Given the description of an element on the screen output the (x, y) to click on. 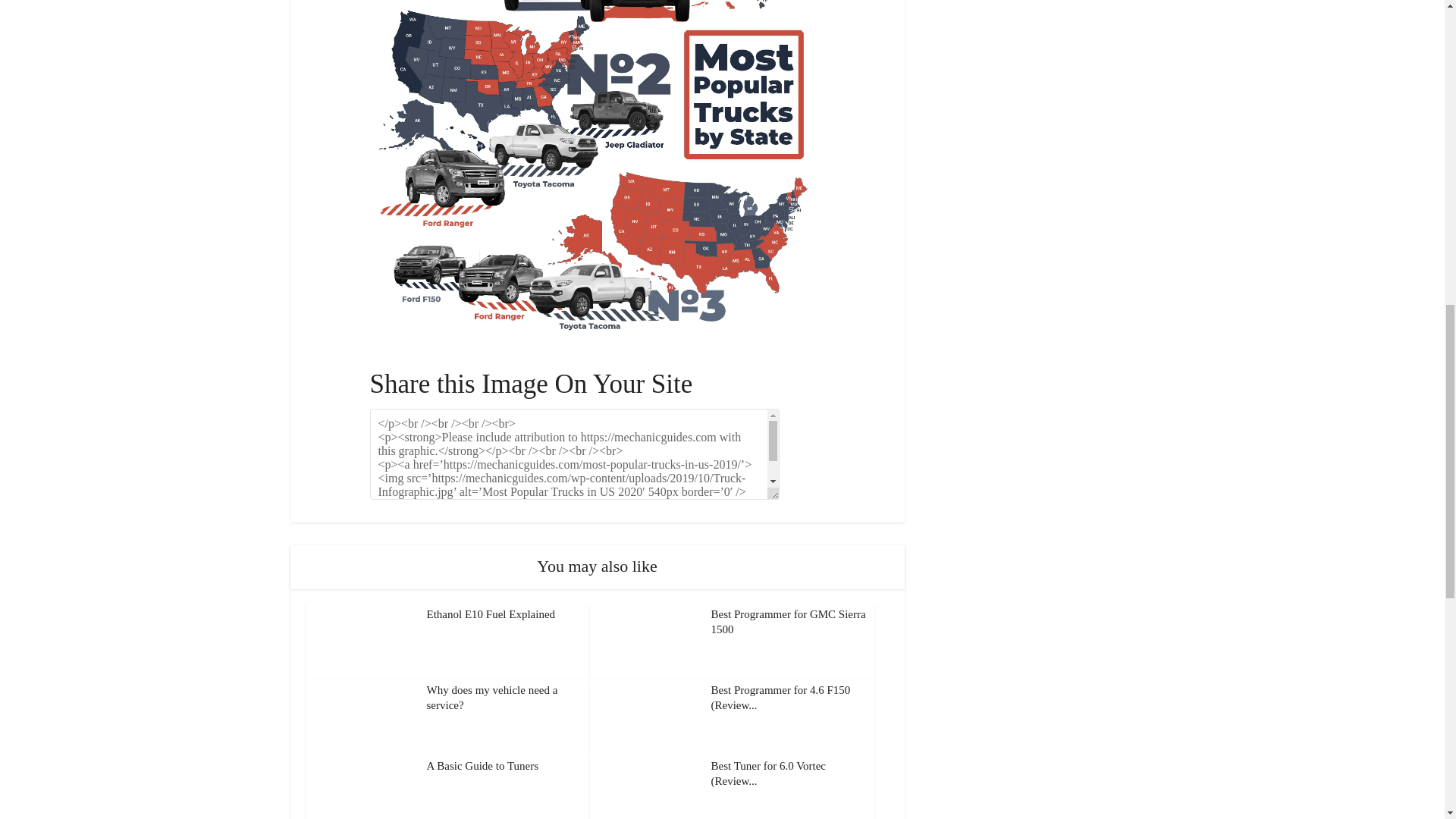
Why does my vehicle need a service? (491, 697)
A Basic Guide to Tuners (482, 766)
Ethanol E10 Fuel Explained (490, 613)
Best Programmer for GMC Sierra 1500 (788, 621)
